Given the description of an element on the screen output the (x, y) to click on. 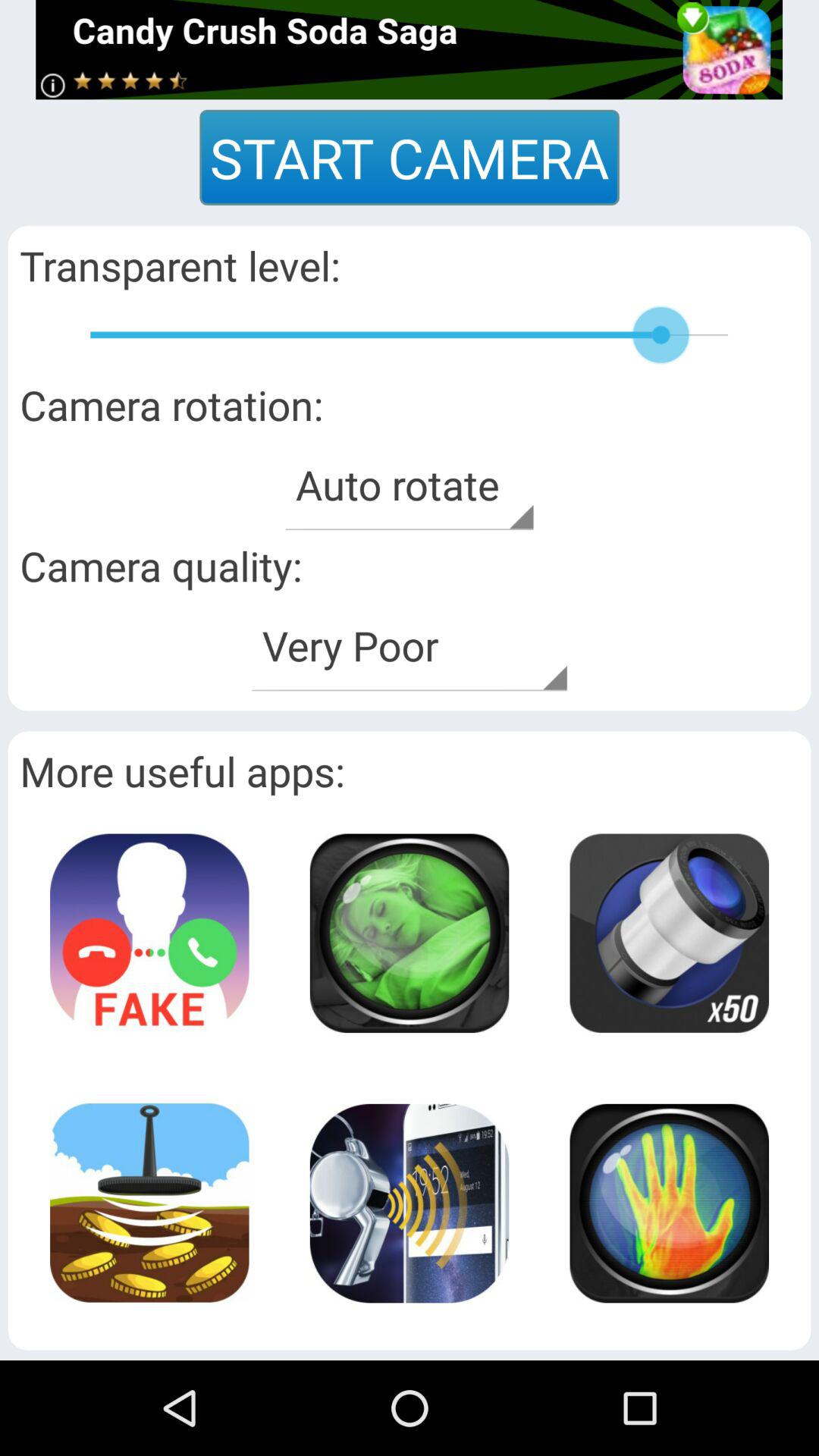
phone call (149, 932)
